Given the description of an element on the screen output the (x, y) to click on. 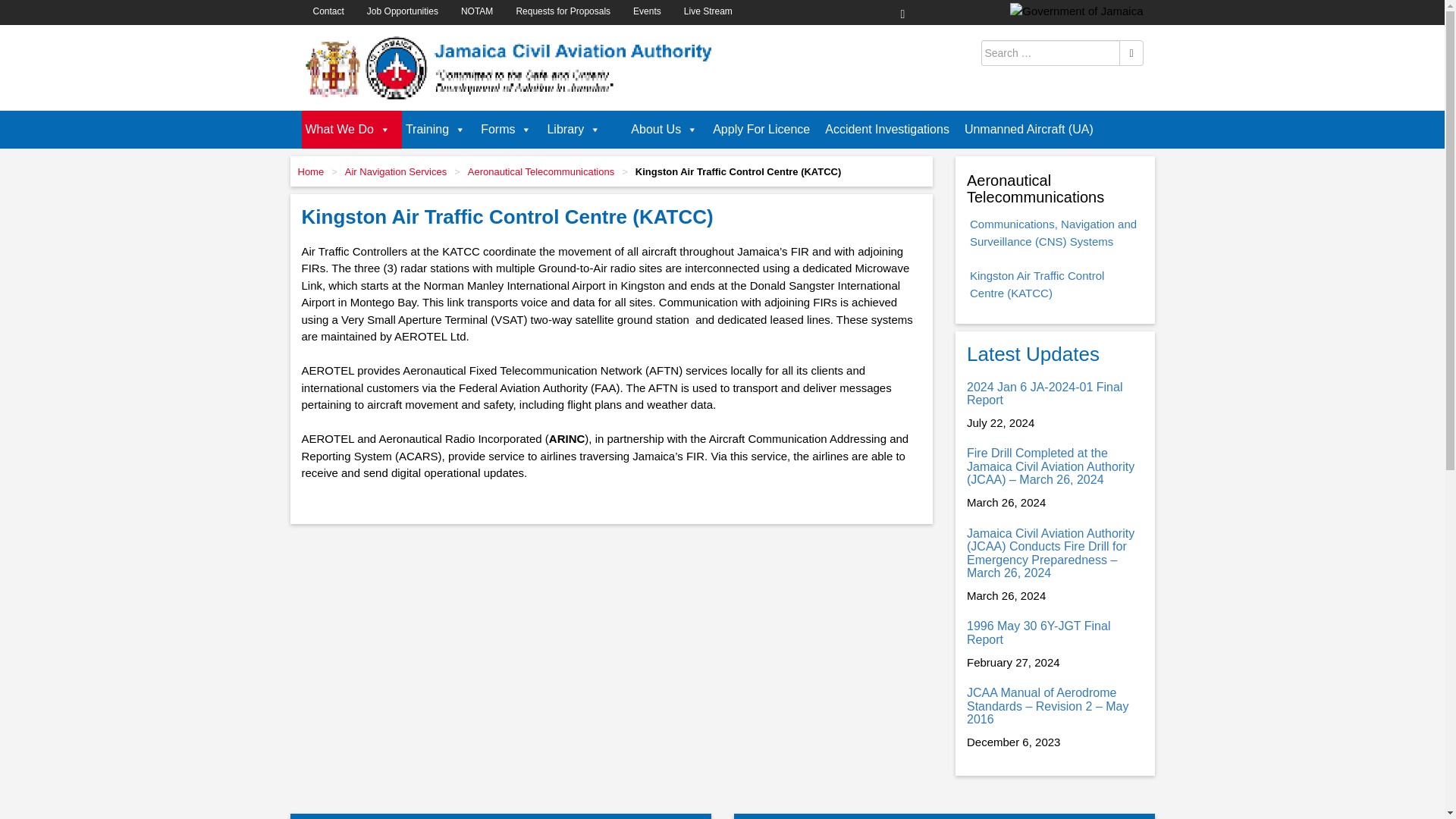
Events (646, 10)
Home (310, 171)
What We Do (351, 129)
Live Stream (708, 10)
Aeronautical Telecommunications (540, 171)
Job Opportunities (402, 10)
Air Navigation Services (395, 171)
Requests for Proposals (562, 10)
NOTAM (476, 10)
Contact (328, 10)
